Given the description of an element on the screen output the (x, y) to click on. 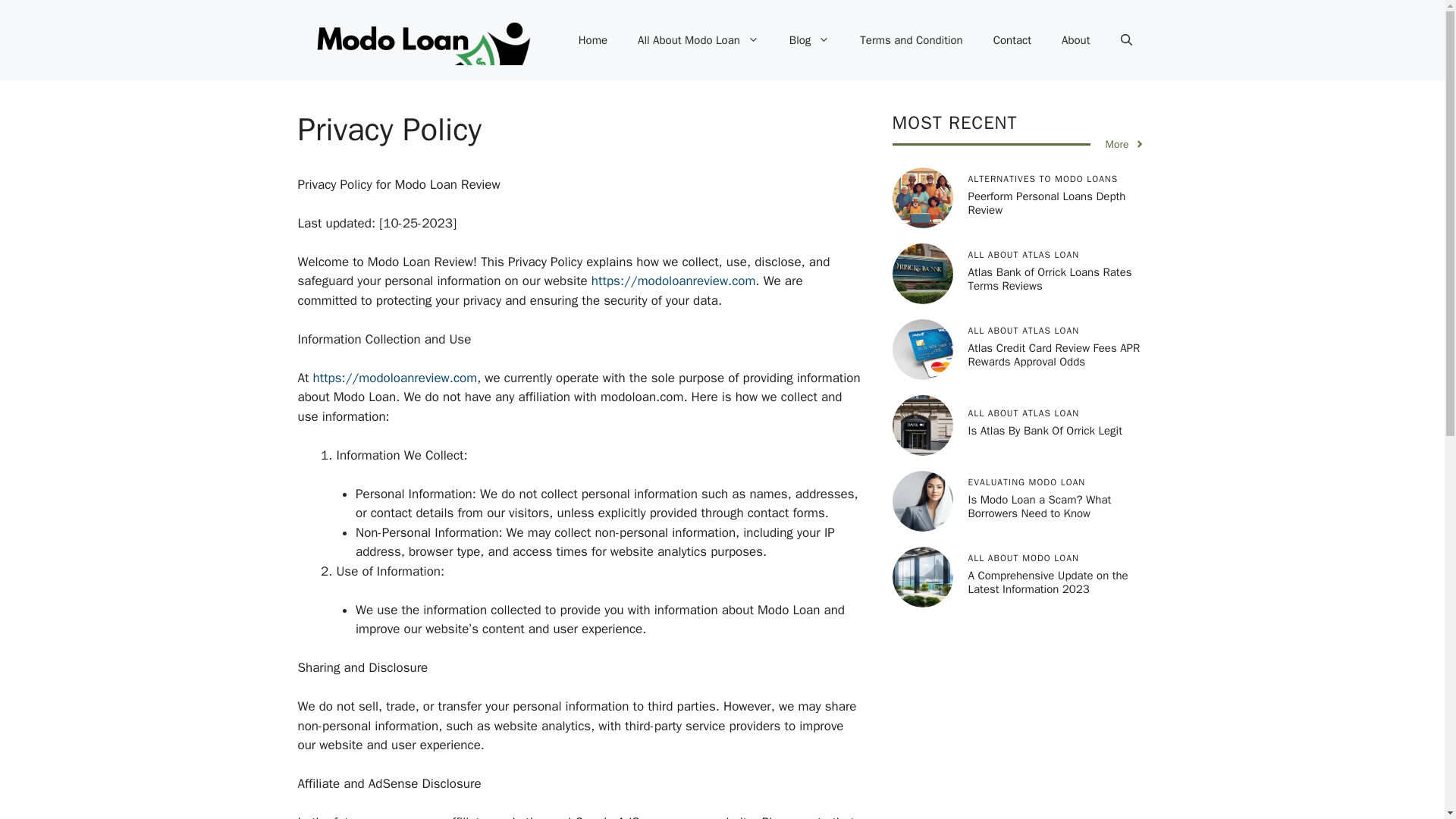
Contact (1012, 40)
Is Atlas By Bank Of Orrick Legit (1044, 430)
Peerform Personal Loans Depth Review (1046, 203)
More (1124, 144)
All About Modo Loan (698, 40)
Atlas Bank of Orrick Loans Rates Terms Reviews (1049, 278)
Home (593, 40)
A Comprehensive Update on the Latest Information 2023 (1047, 582)
About (1075, 40)
Blog (809, 40)
